Given the description of an element on the screen output the (x, y) to click on. 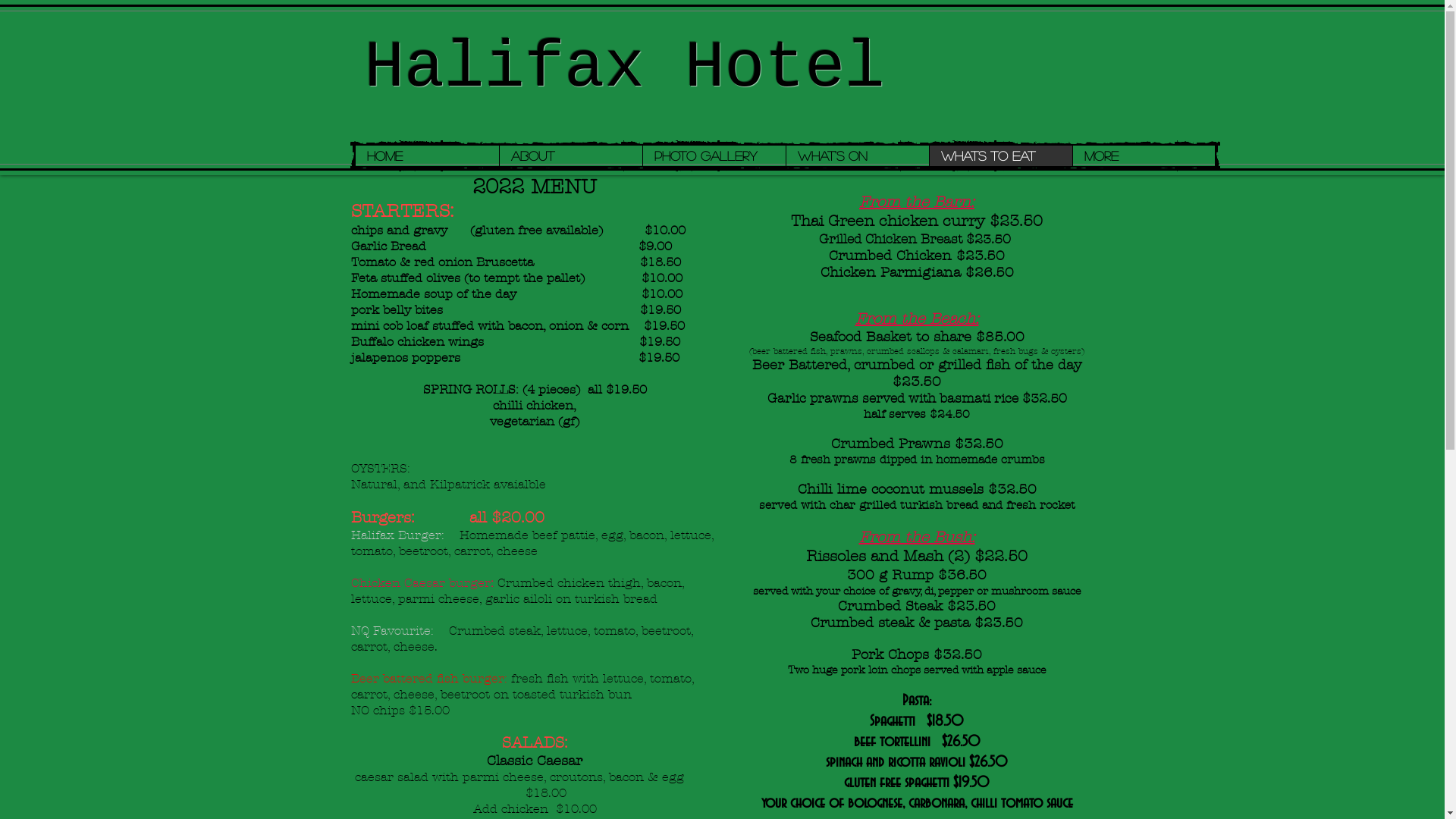
What's On Element type: text (856, 155)
Home Element type: text (426, 155)
About Element type: text (570, 155)
Whats to Eat Element type: text (999, 155)
Photo Gallery Element type: text (712, 155)
